Given the description of an element on the screen output the (x, y) to click on. 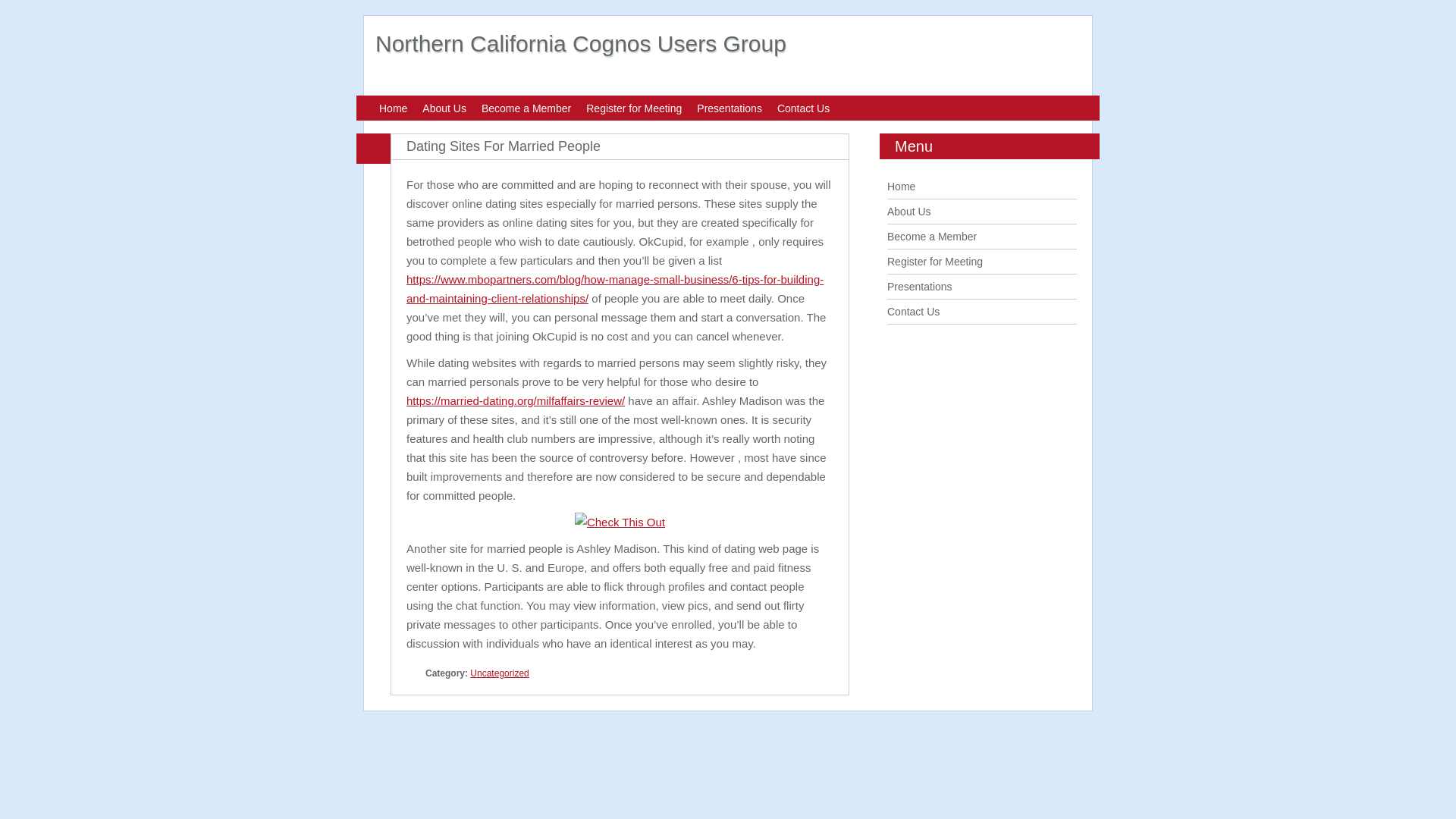
Contact Us (912, 311)
Contact Us (803, 108)
Dating Sites For Married People (502, 145)
Register for Meeting (934, 261)
Home (900, 186)
Home (392, 108)
Uncategorized (499, 673)
Presentations (729, 108)
About Us (908, 211)
Northern California Cognos Users Group -  (580, 43)
Become a Member (525, 108)
Register for Meeting (633, 108)
Permalink to Dating Sites For Married People (502, 145)
Northern California Cognos Users Group (580, 43)
About Us (443, 108)
